Given the description of an element on the screen output the (x, y) to click on. 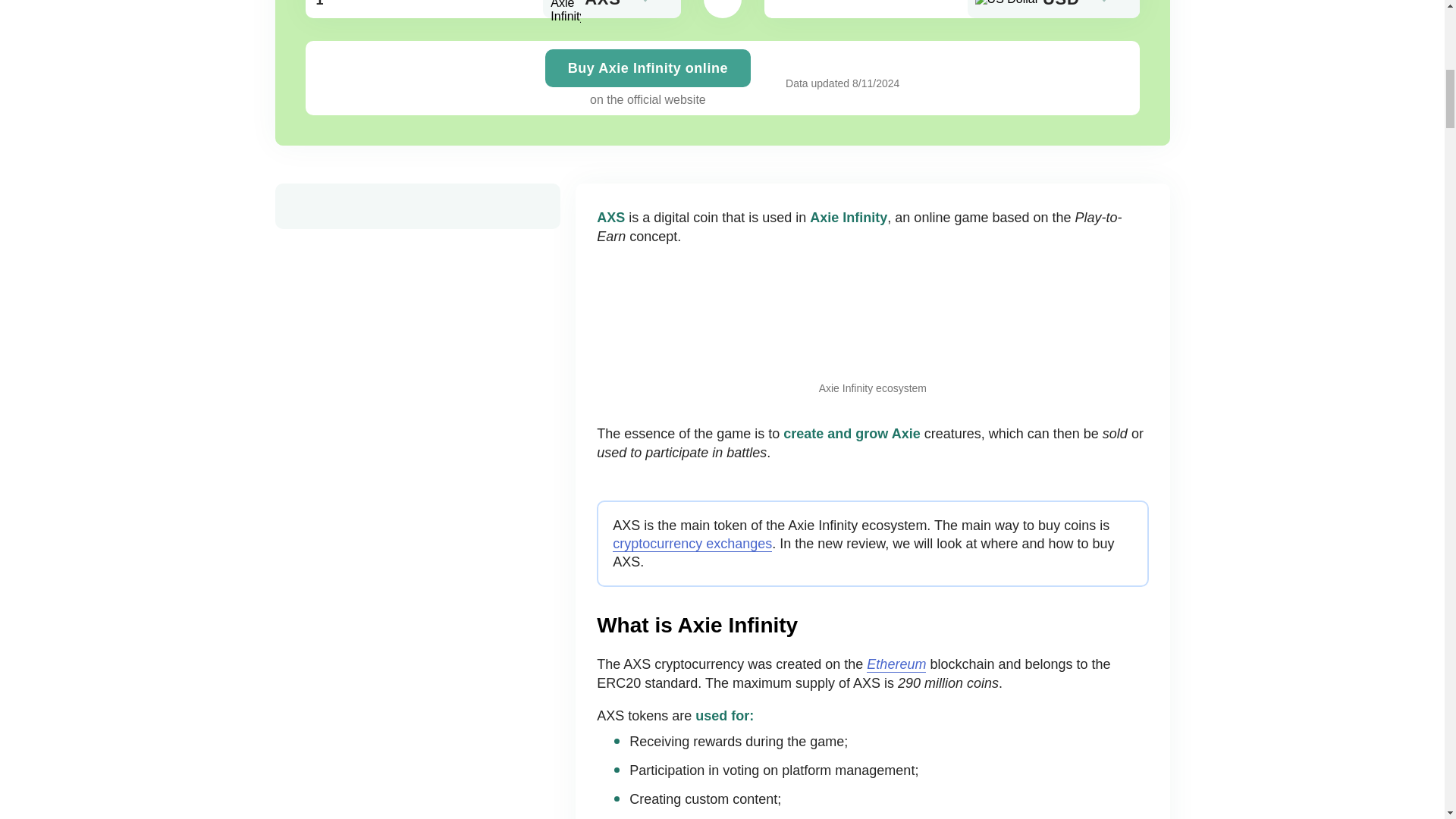
cryptocurrency exchanges (691, 544)
Ethereum (896, 664)
1 (491, 9)
Buy Axie Infinity online (647, 68)
